Given the description of an element on the screen output the (x, y) to click on. 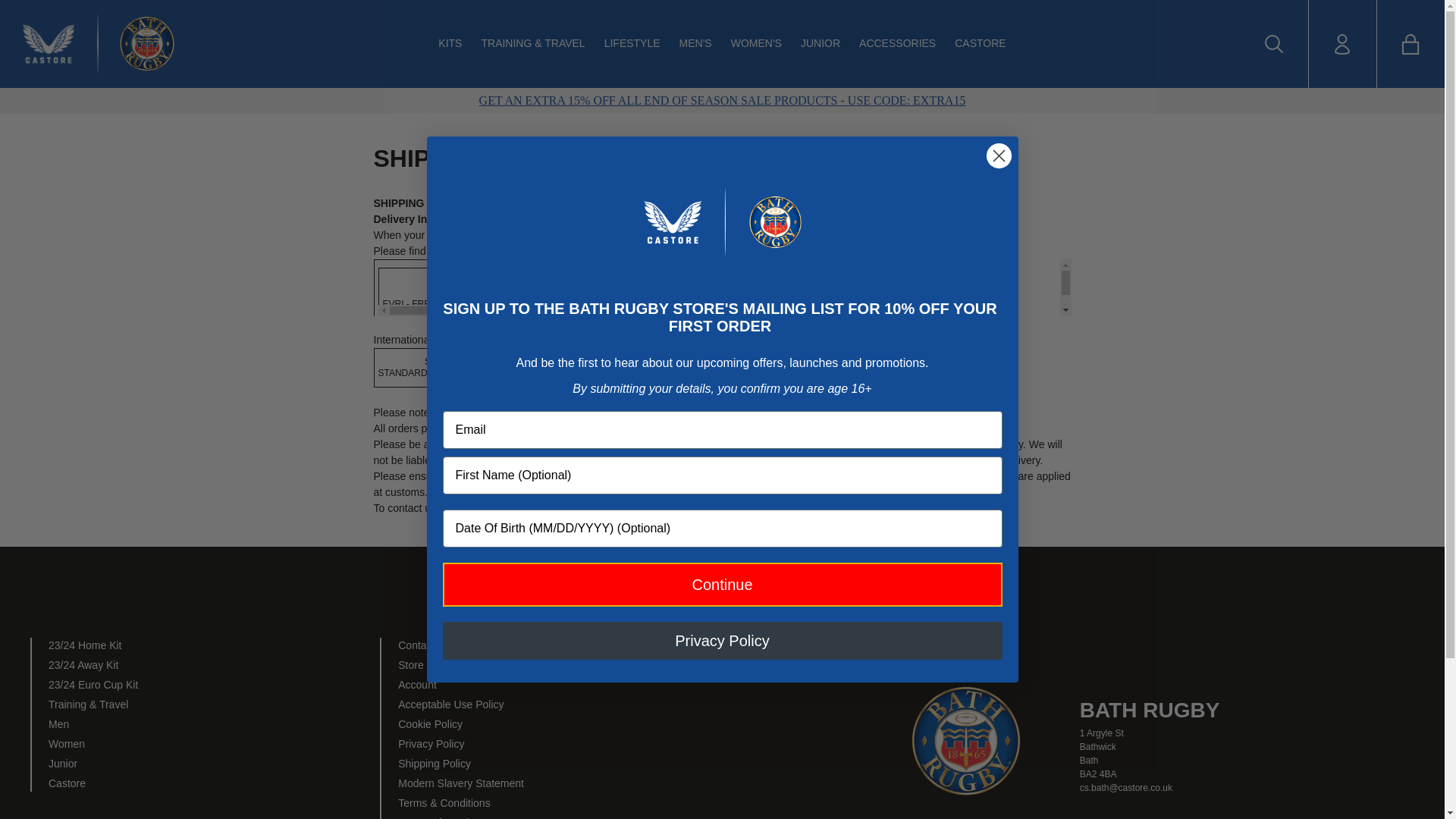
WOMEN'S (755, 44)
Search (1273, 44)
KITS (449, 44)
LIFESTYLE (632, 44)
Bath Rugby (149, 43)
JUNIOR (820, 44)
MEN'S (695, 44)
